Given the description of an element on the screen output the (x, y) to click on. 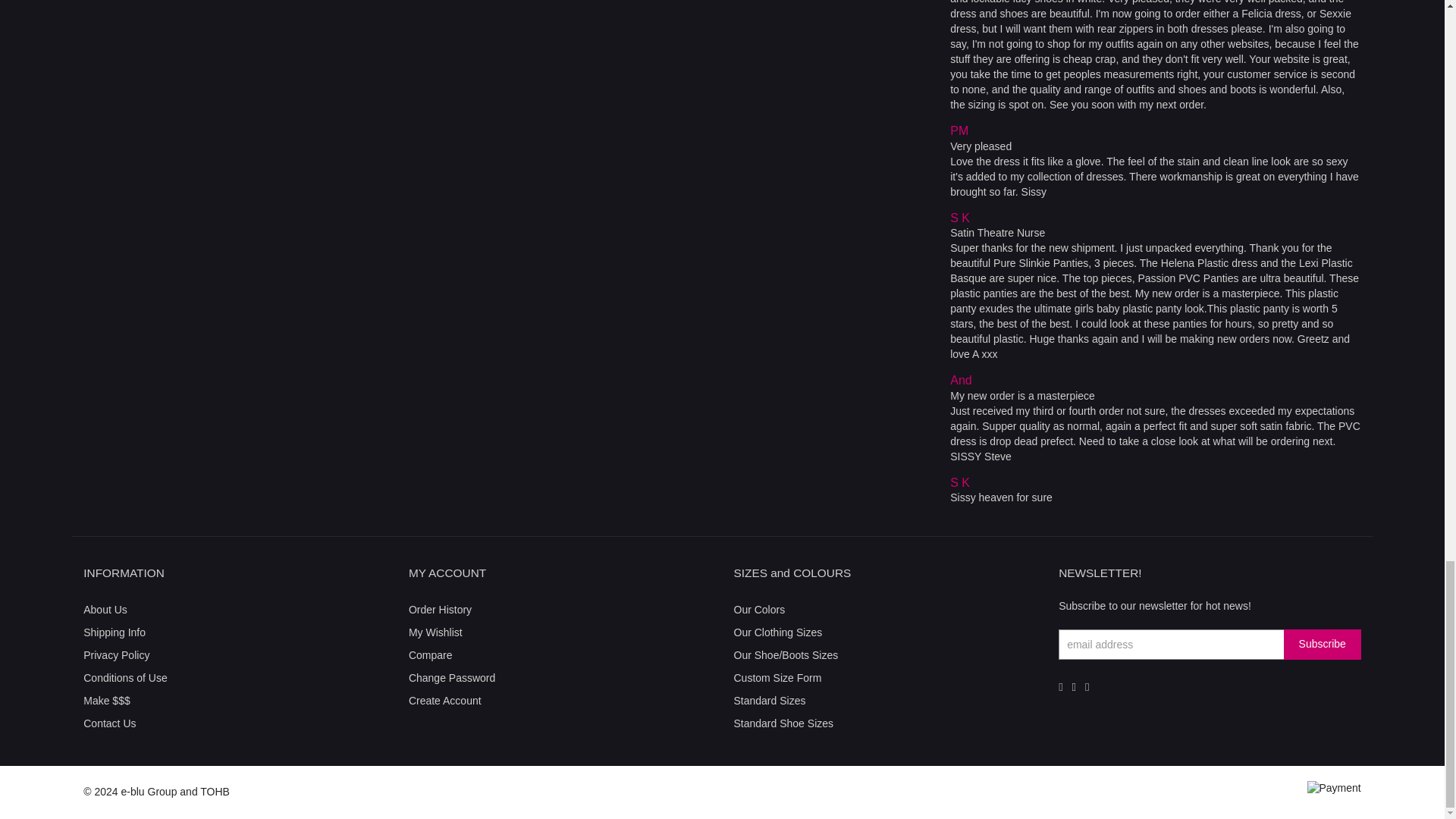
Subscribe (1322, 644)
